Given the description of an element on the screen output the (x, y) to click on. 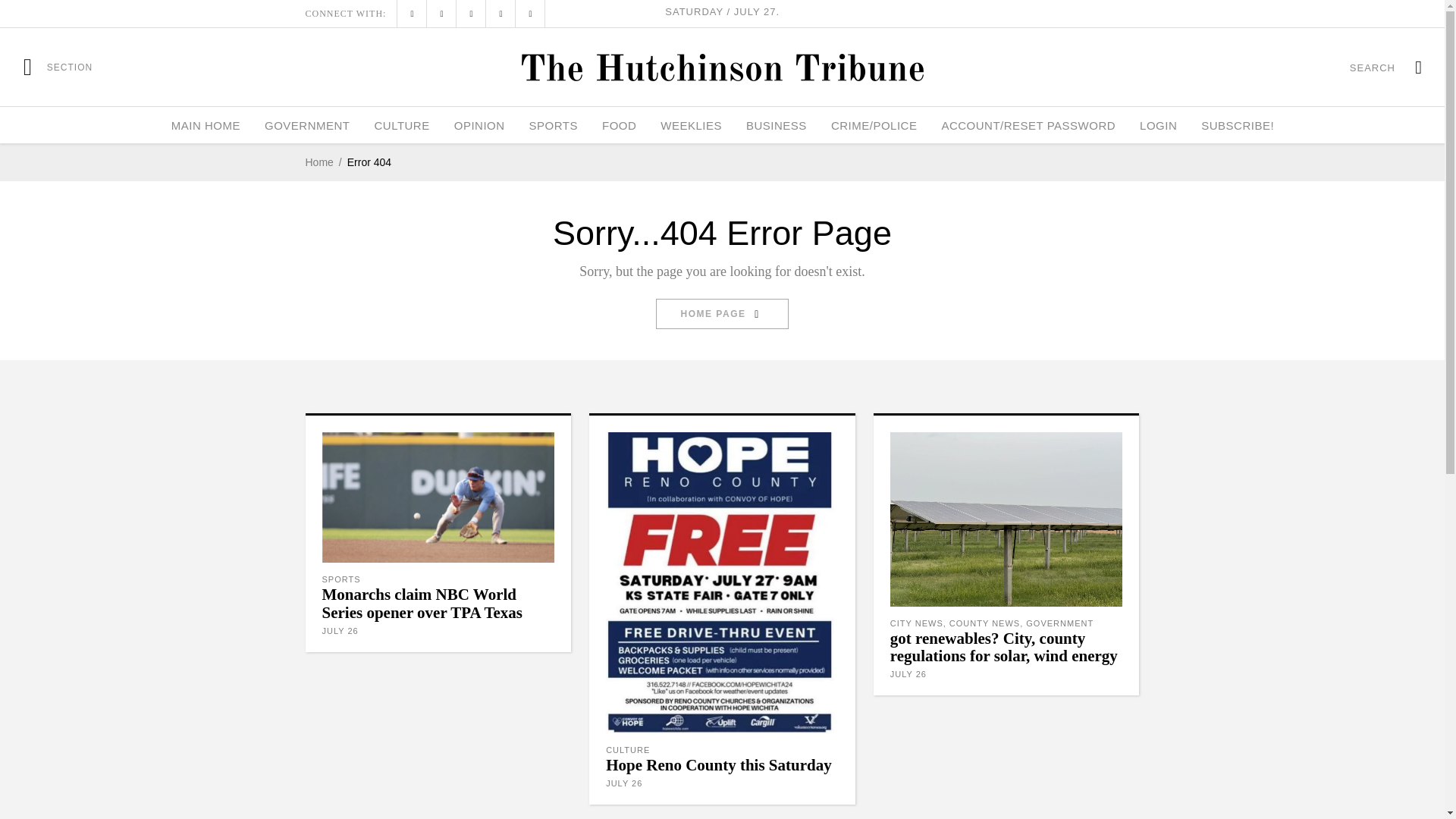
SUBSCRIBE! (1237, 125)
FOOD (618, 125)
SPORTS (552, 125)
SECTION (58, 67)
CULTURE (401, 125)
GOVERNMENT (306, 125)
OPINION (479, 125)
MAIN HOME (204, 125)
WEEKLIES (690, 125)
LOGIN (1157, 125)
BUSINESS (775, 125)
